Given the description of an element on the screen output the (x, y) to click on. 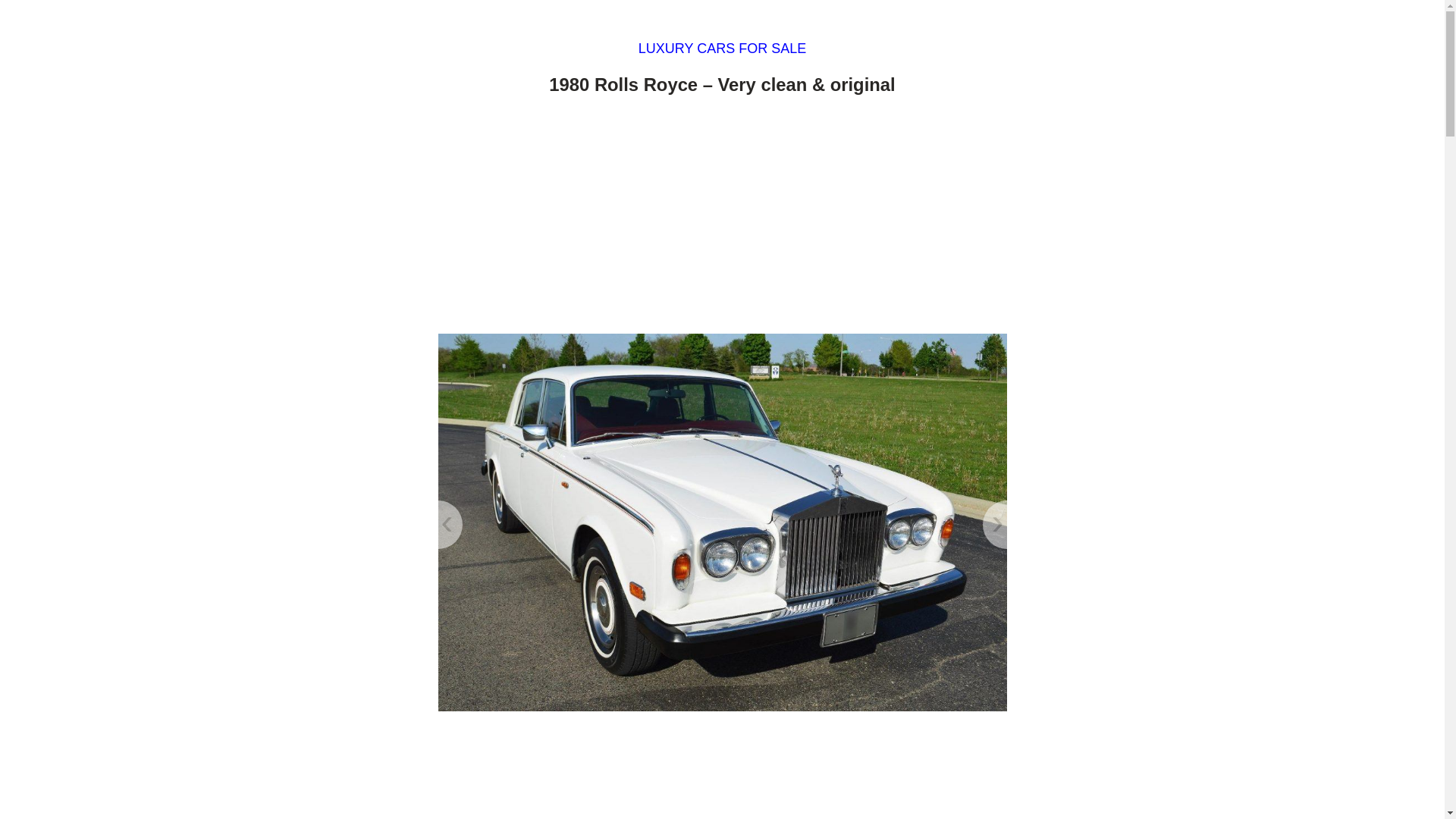
LUXURY CARS FOR SALE (722, 48)
Advertisement (722, 771)
Advertisement (722, 218)
